Given the description of an element on the screen output the (x, y) to click on. 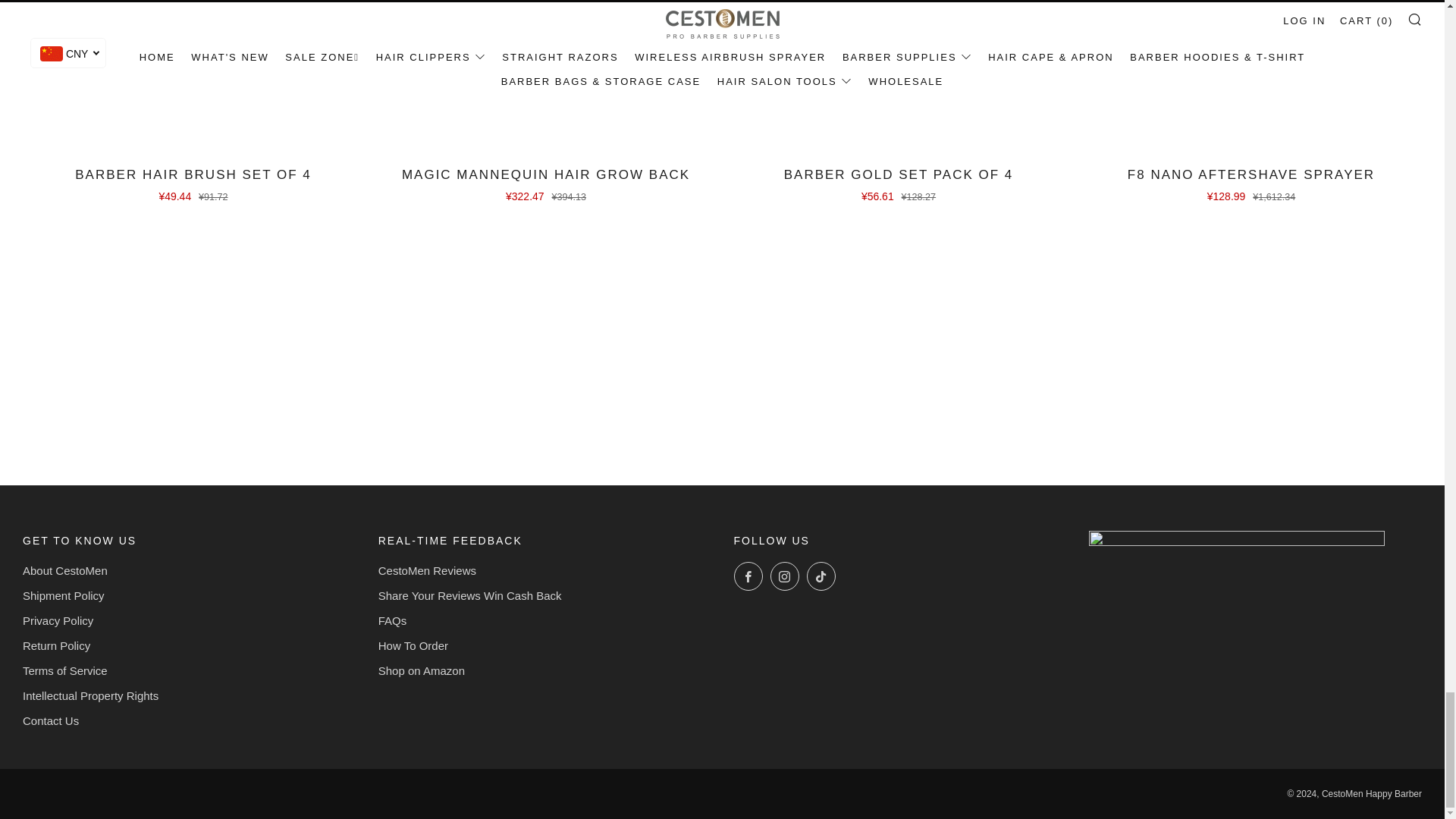
Barber Gold Set Pack of 4 (898, 182)
Magic Mannequin Hair Grow Back (545, 182)
Barber Hair Brush Set of 4 (193, 182)
F8 Nano Aftershave Sprayer (1251, 182)
